Given the description of an element on the screen output the (x, y) to click on. 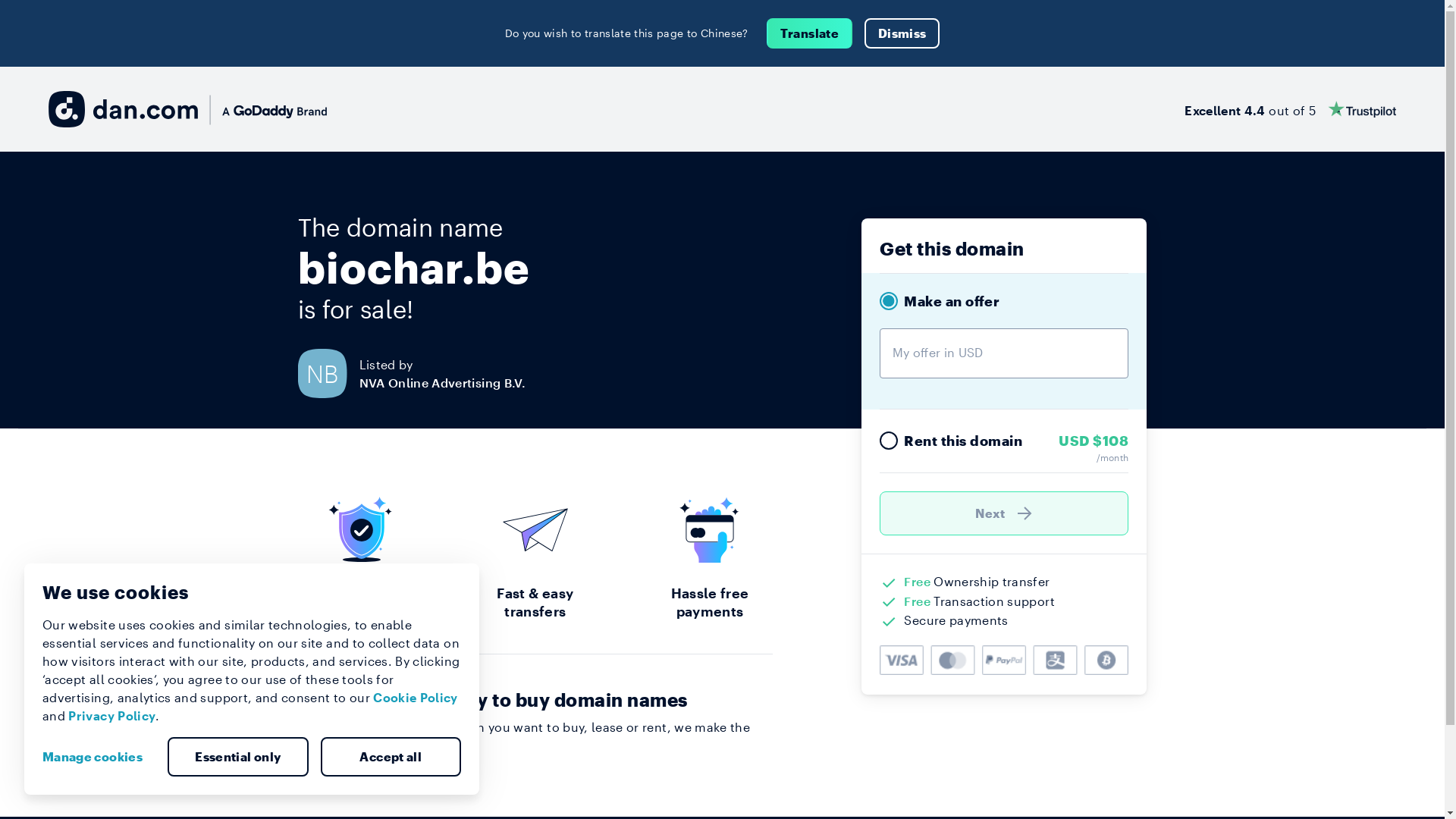
Accept all Element type: text (390, 756)
Dismiss Element type: text (901, 33)
Next
) Element type: text (1003, 513)
Translate Element type: text (809, 33)
Cookie Policy Element type: text (415, 697)
Excellent 4.4 out of 5 Element type: text (1290, 109)
Privacy Policy Element type: text (111, 715)
Manage cookies Element type: text (98, 756)
Essential only Element type: text (237, 756)
